Given the description of an element on the screen output the (x, y) to click on. 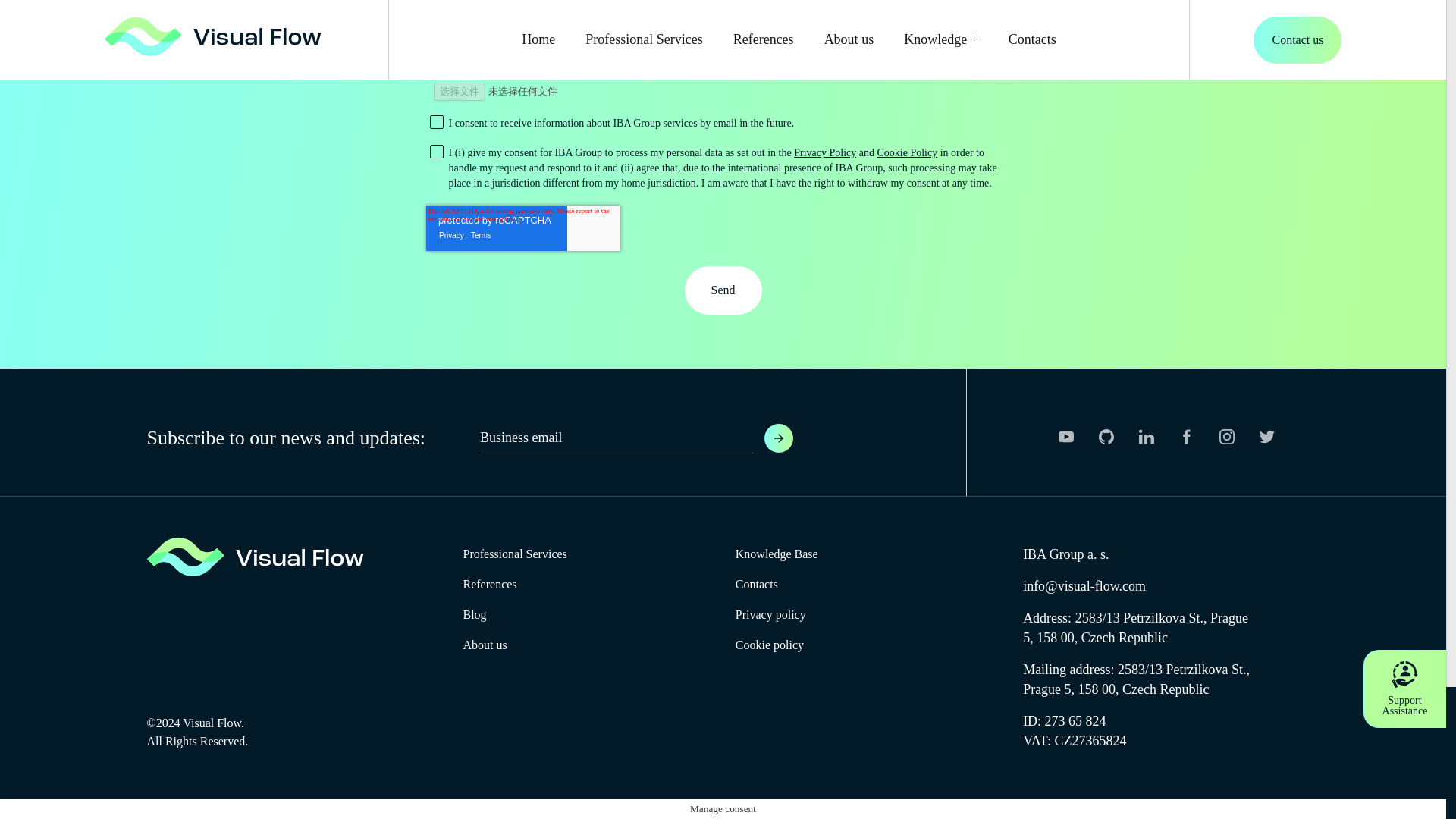
Send (722, 290)
